Given the description of an element on the screen output the (x, y) to click on. 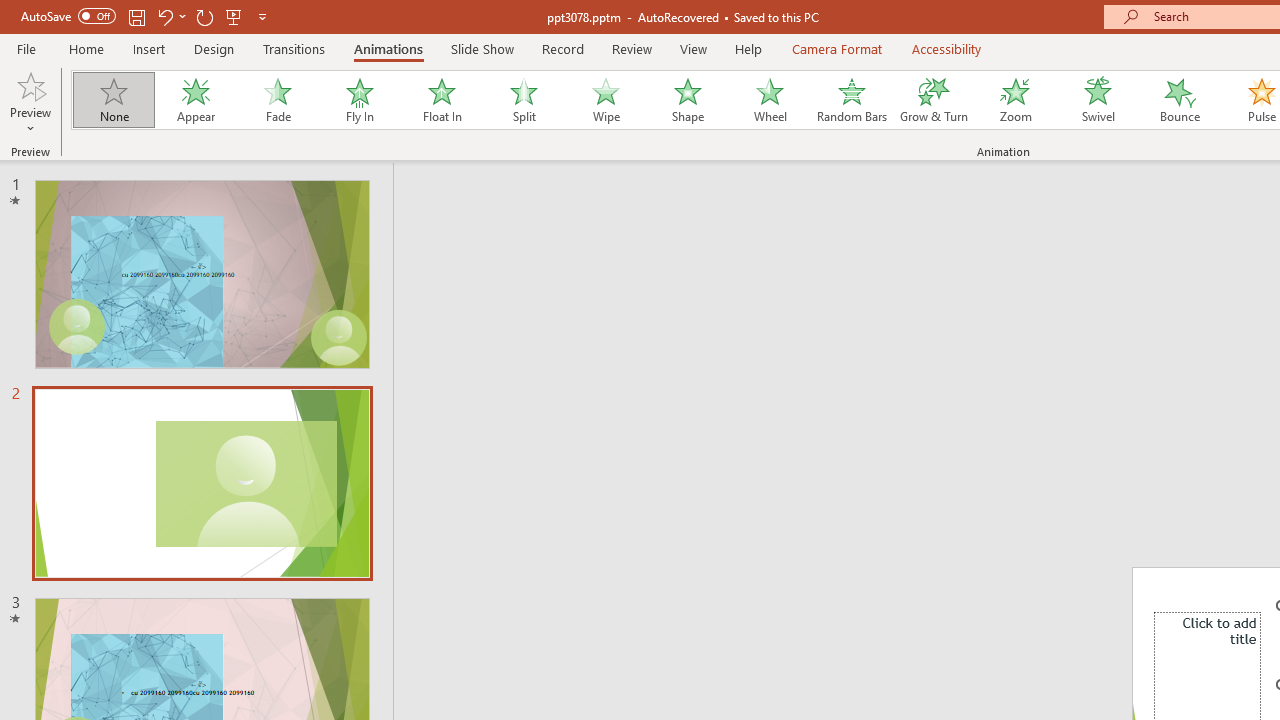
Swivel (1098, 100)
Fly In (359, 100)
Appear (195, 100)
